Given the description of an element on the screen output the (x, y) to click on. 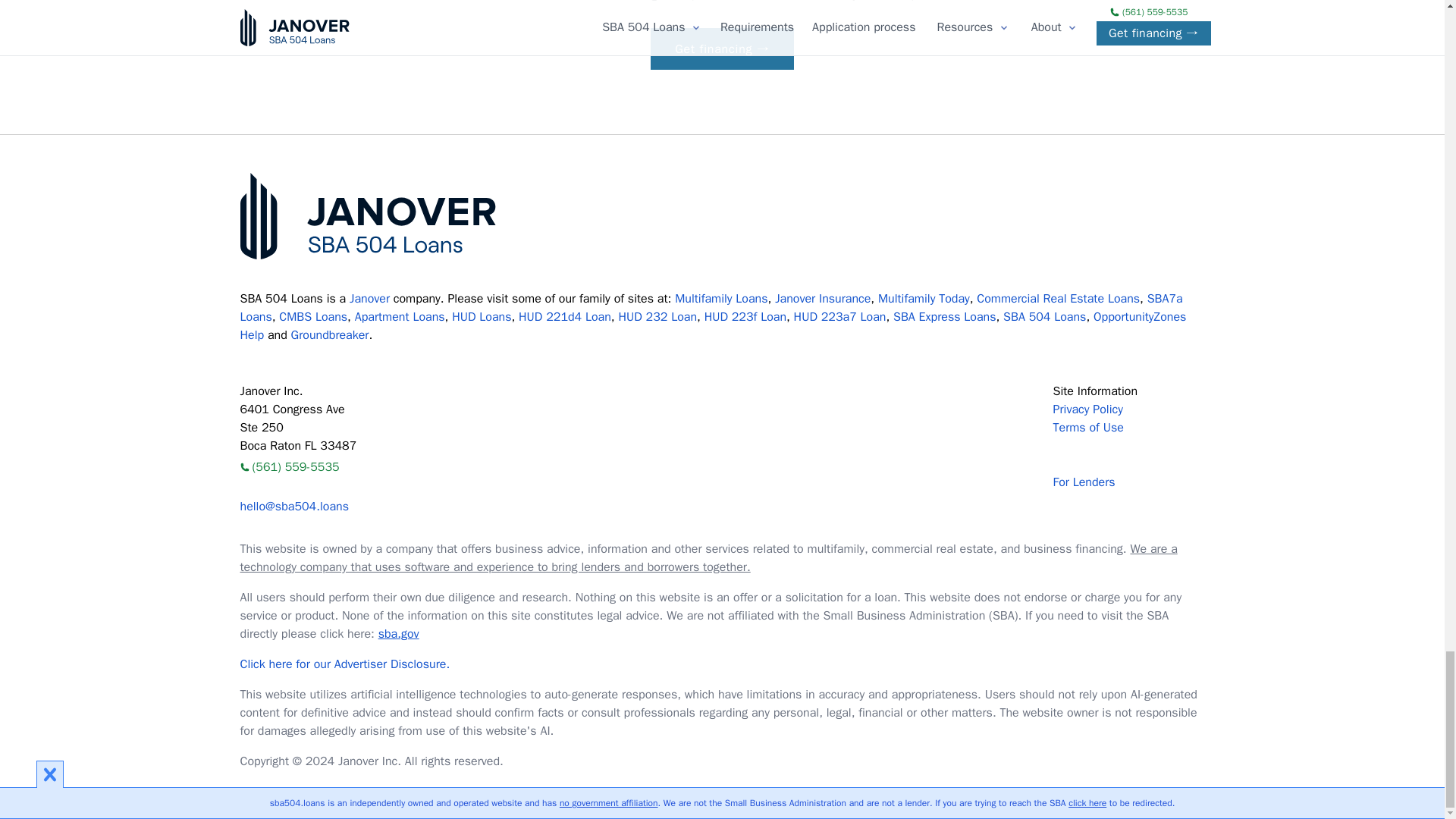
SBA 504 Loans (368, 215)
